Given the description of an element on the screen output the (x, y) to click on. 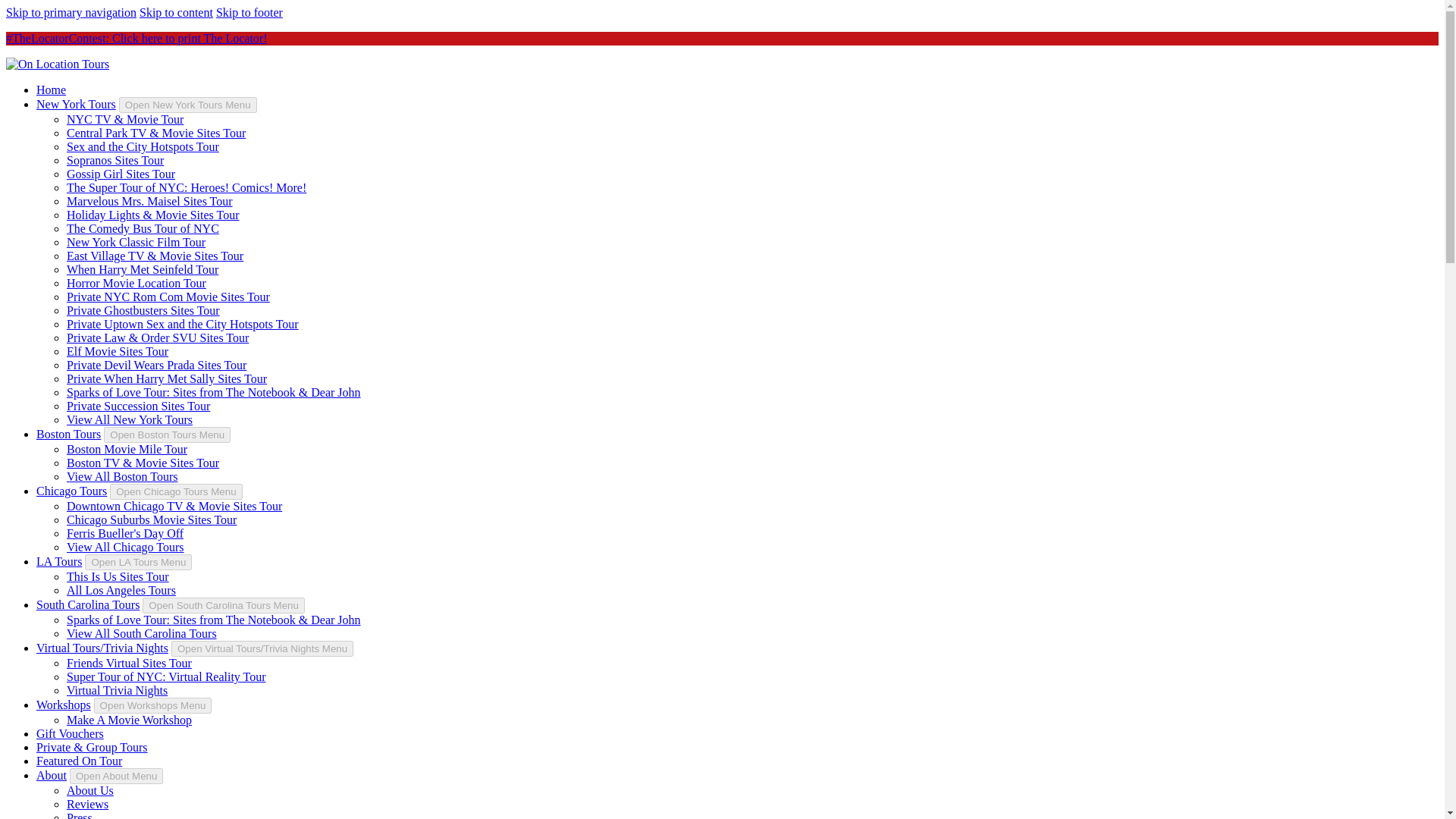
Home (50, 89)
Gossip Girl Sites Tour (120, 173)
Sopranos Sites Tour (114, 160)
Skip to primary navigation (70, 11)
Open Chicago Tours Menu (175, 491)
View All Boston Tours (121, 476)
Private NYC Rom Com Movie Sites Tour (167, 296)
Private Ghostbusters Sites Tour (142, 309)
Chicago Suburbs Movie Sites Tour (150, 519)
The Comedy Bus Tour of NYC (142, 228)
Private Devil Wears Prada Sites Tour (156, 364)
New York Classic Film Tour (135, 241)
Sex and the City Hotspots Tour (142, 146)
Open New York Tours Menu (188, 105)
The Super Tour of NYC: Heroes! Comics! More! (185, 187)
